Given the description of an element on the screen output the (x, y) to click on. 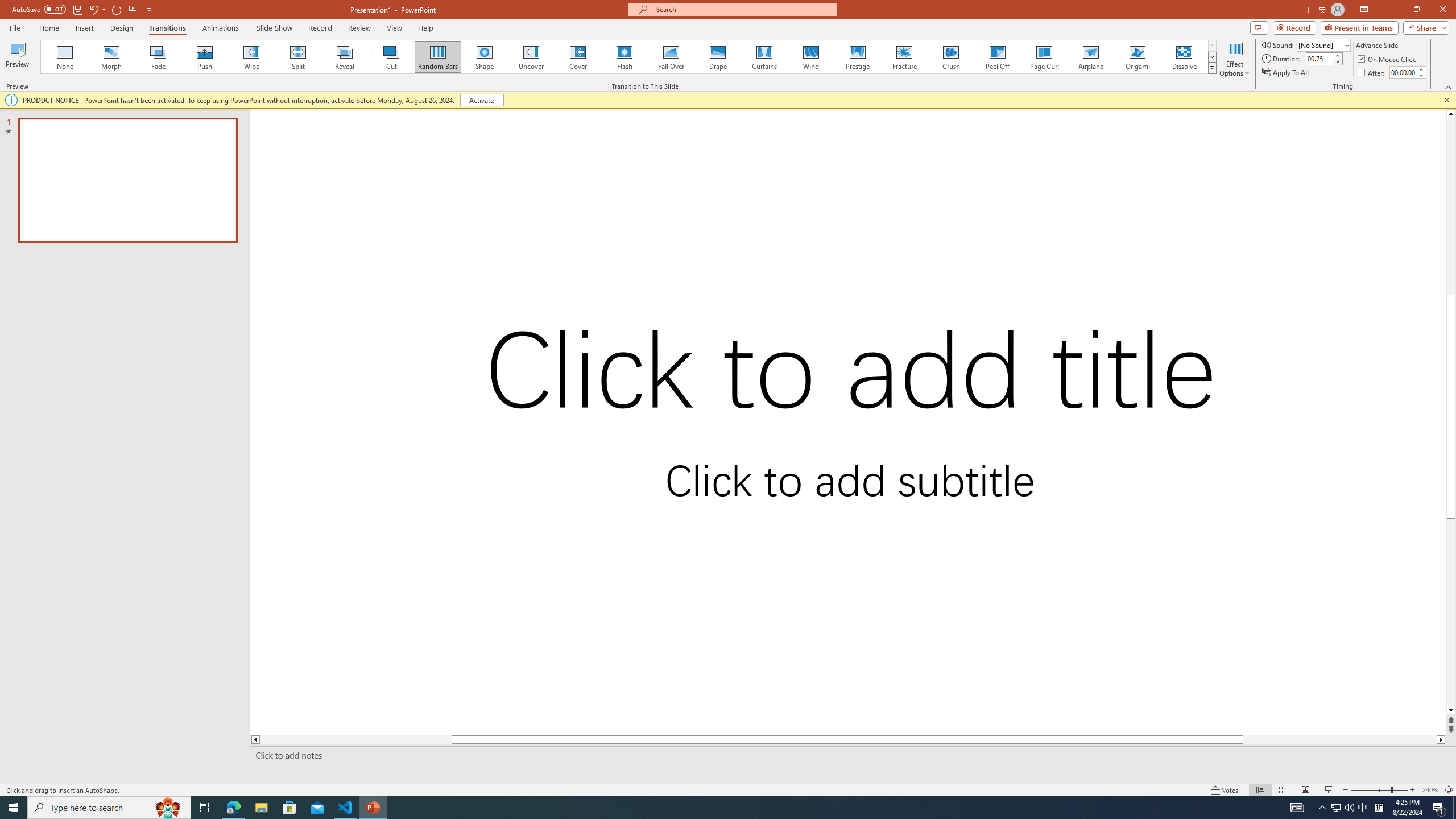
Cover (577, 56)
Transition Effects (1212, 67)
Zoom 240% (1430, 790)
Close this message (1446, 99)
Morph (111, 56)
Origami (1136, 56)
